Given the description of an element on the screen output the (x, y) to click on. 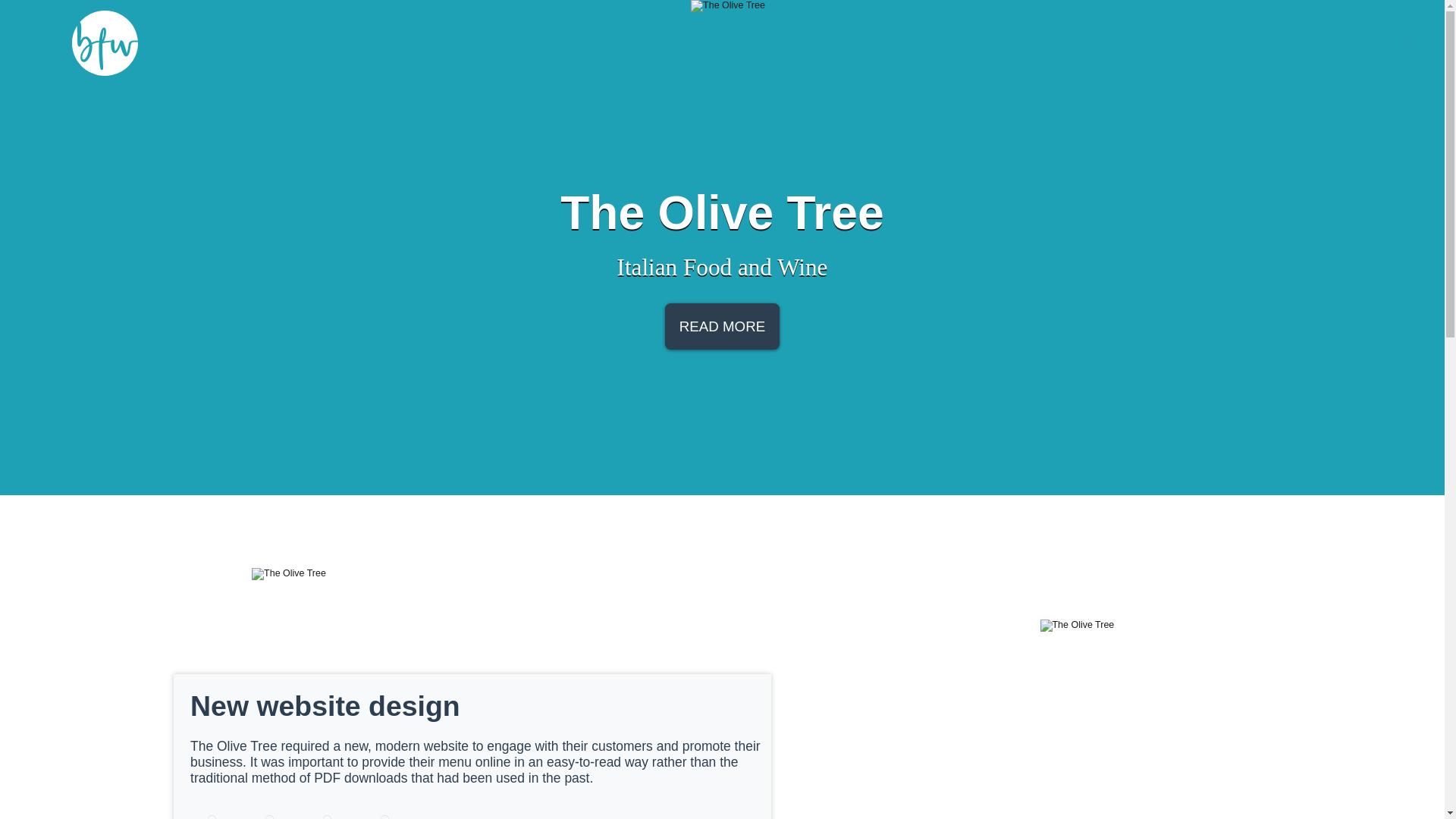
Read more about this project (721, 326)
Menu (1405, 42)
Blue Fusion Web (382, 43)
READ MORE (721, 326)
